Given the description of an element on the screen output the (x, y) to click on. 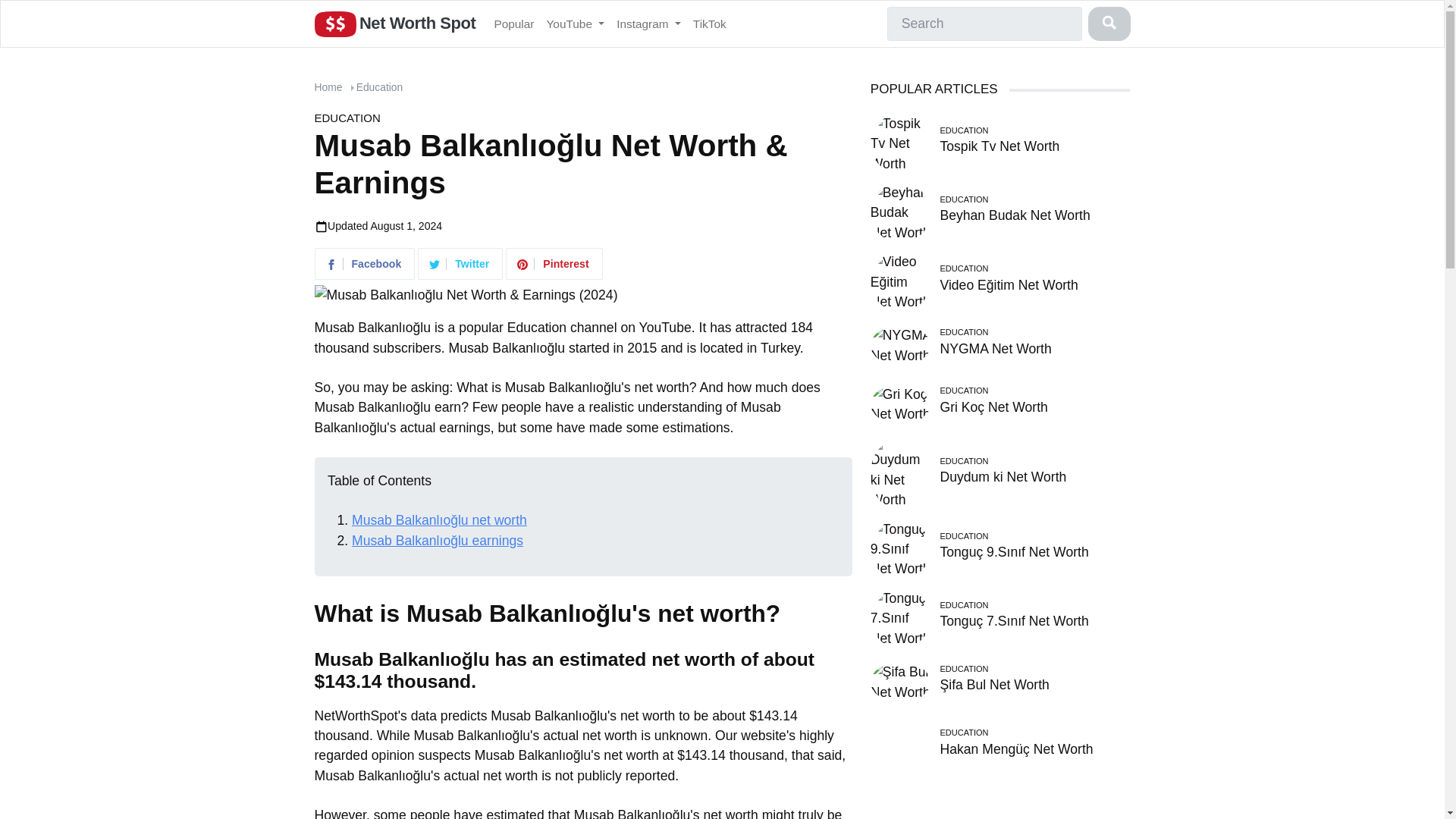
Twitter (461, 264)
View all articles in Education (379, 87)
Home (328, 87)
NYGMA Net Worth (900, 344)
EDUCATION (347, 117)
Beyhan Budak Net Worth (1014, 215)
Education (379, 87)
Popular (513, 23)
Tospik Tv Net Worth (999, 145)
Duydum ki Net Worth (1002, 476)
